Given the description of an element on the screen output the (x, y) to click on. 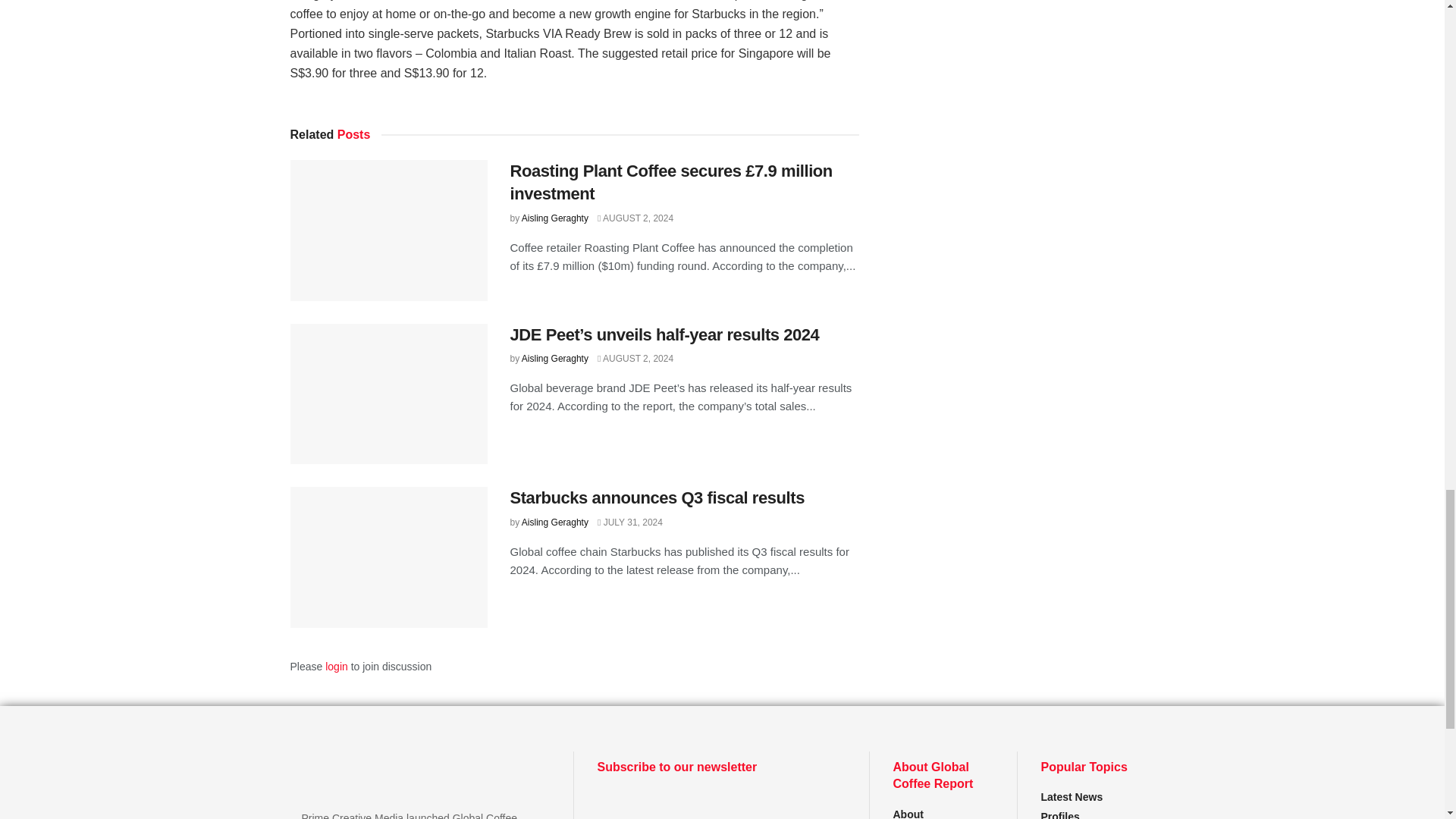
Newsletter signup for Footer (720, 805)
